Given the description of an element on the screen output the (x, y) to click on. 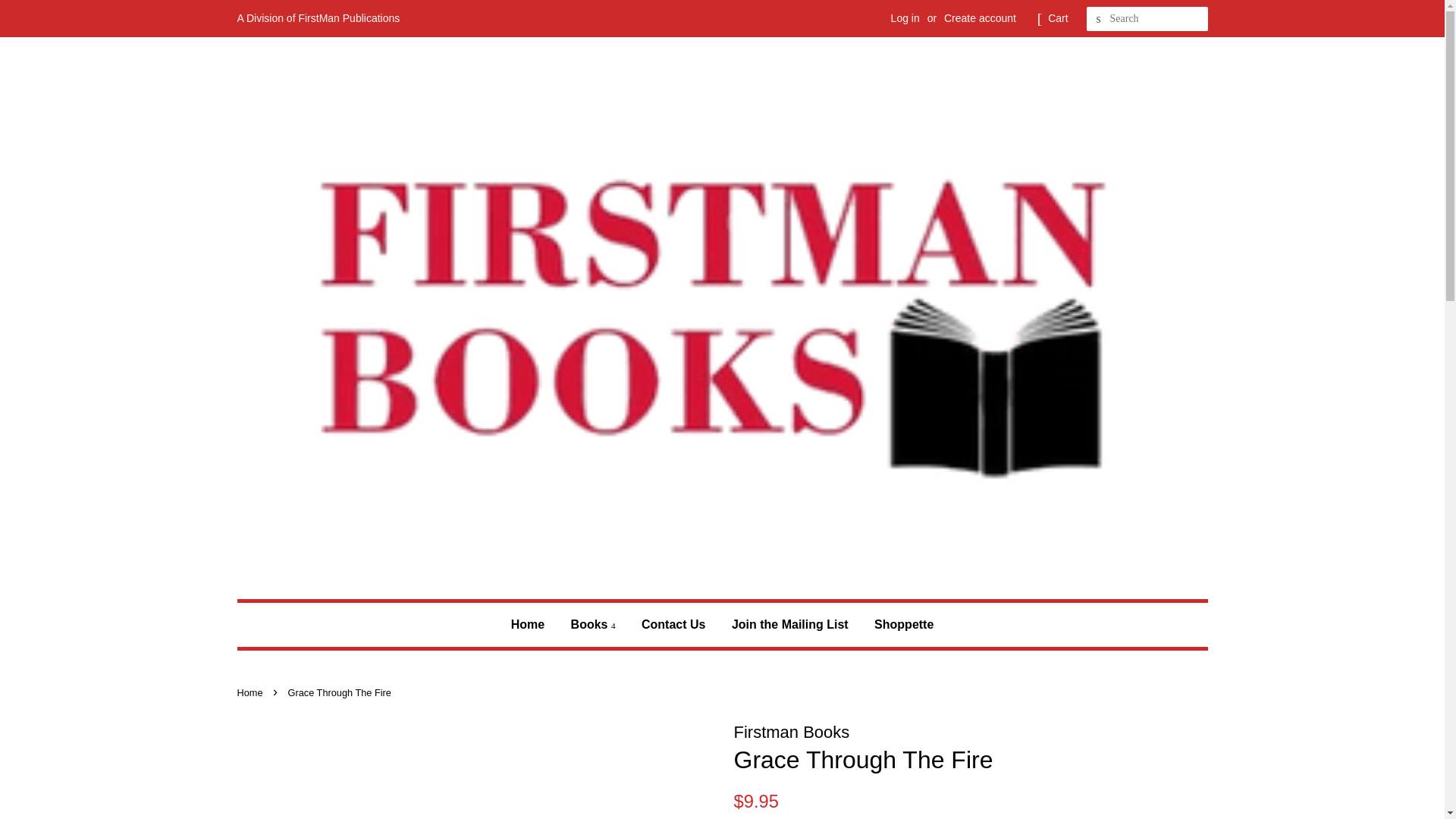
Search (1097, 18)
Contact Us (673, 624)
Back to the frontpage (250, 692)
Shoppette (898, 624)
Home (533, 624)
Log in (905, 18)
Join the Mailing List (790, 624)
Books (593, 624)
Create account (979, 18)
Cart (1057, 18)
Home (250, 692)
